Given the description of an element on the screen output the (x, y) to click on. 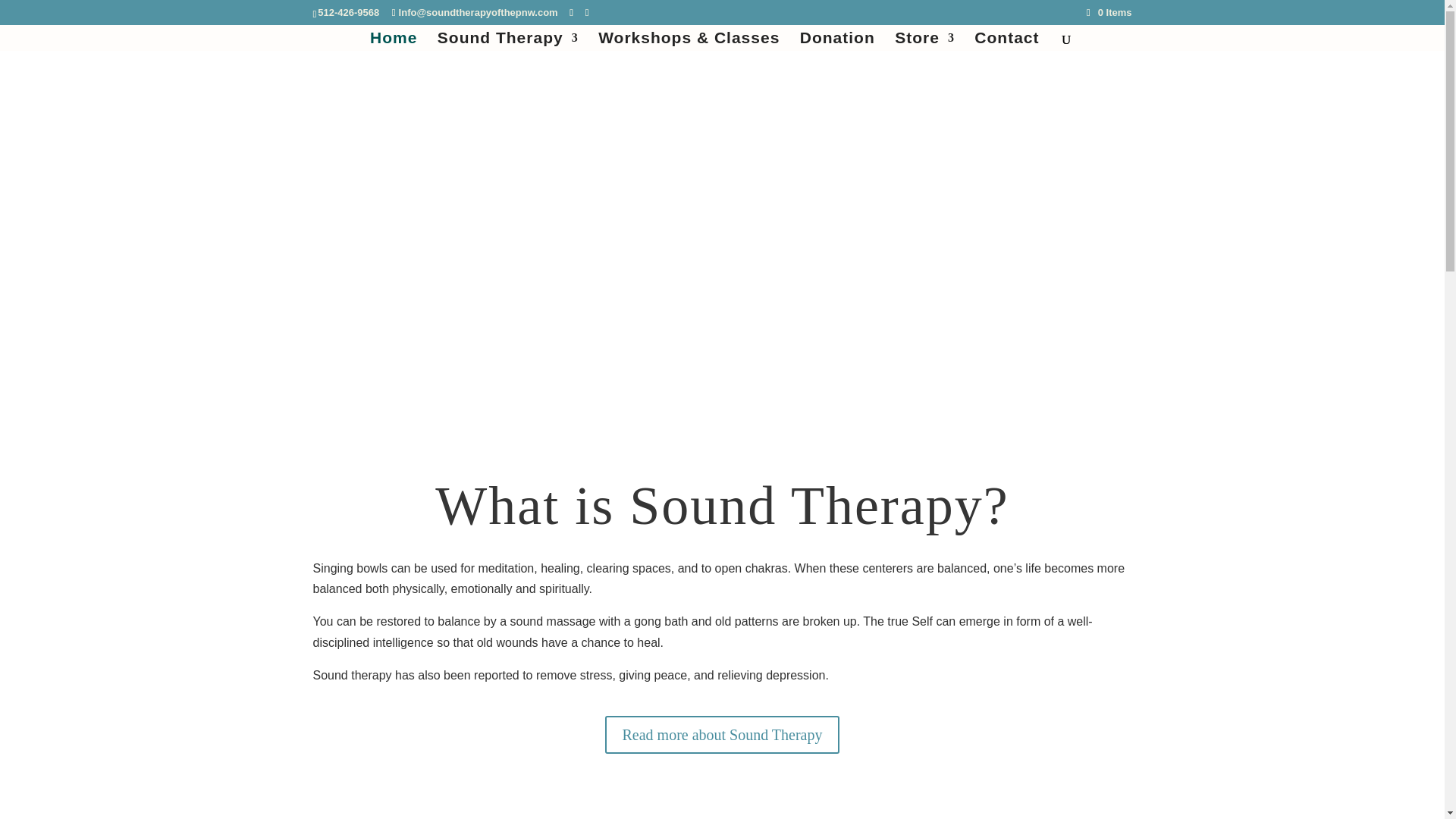
Store (925, 41)
Donation (837, 41)
0 Items (1109, 12)
Home (392, 41)
Sound Therapy (508, 41)
Contact (1006, 41)
Read more about Sound Therapy (721, 734)
